Given the description of an element on the screen output the (x, y) to click on. 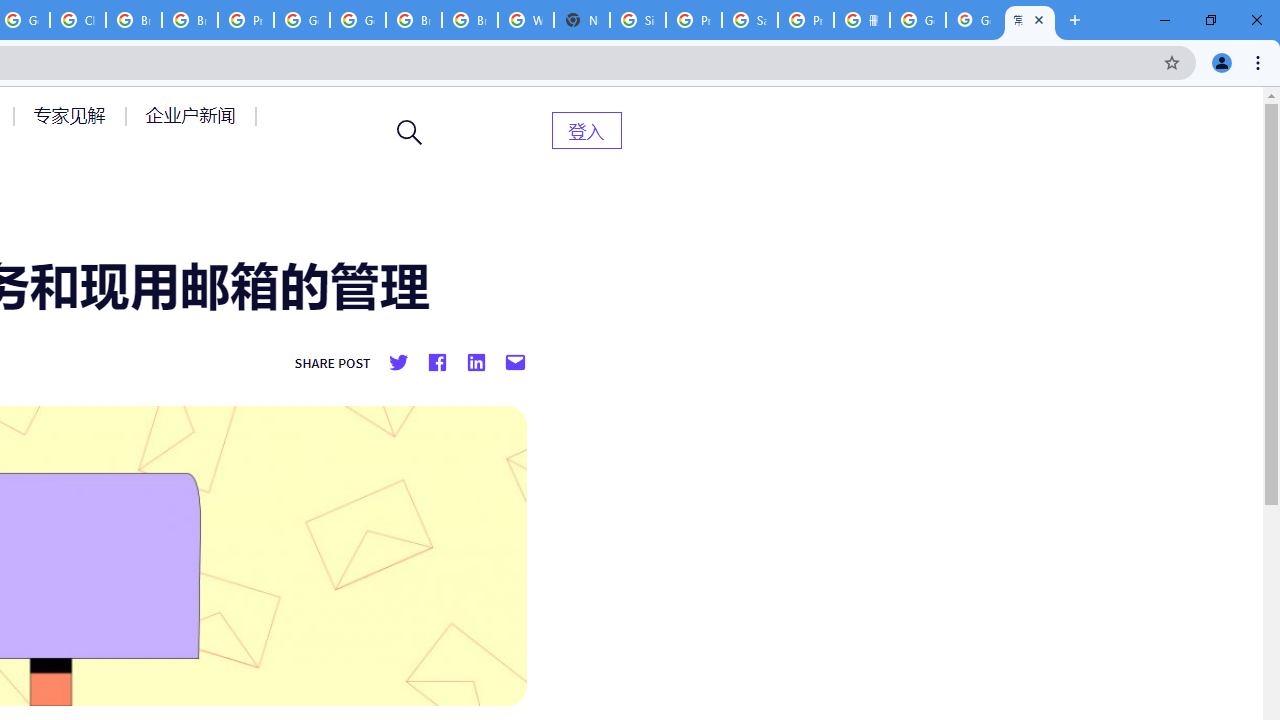
Browse Chrome as a guest - Computer - Google Chrome Help (134, 20)
AutomationID: menu-item-77764 (72, 115)
AutomationID: menu-item-77765 (194, 115)
Share on Linkedin (475, 363)
Share on twitter (397, 363)
Open search form (410, 132)
Browse Chrome as a guest - Computer - Google Chrome Help (189, 20)
